Given the description of an element on the screen output the (x, y) to click on. 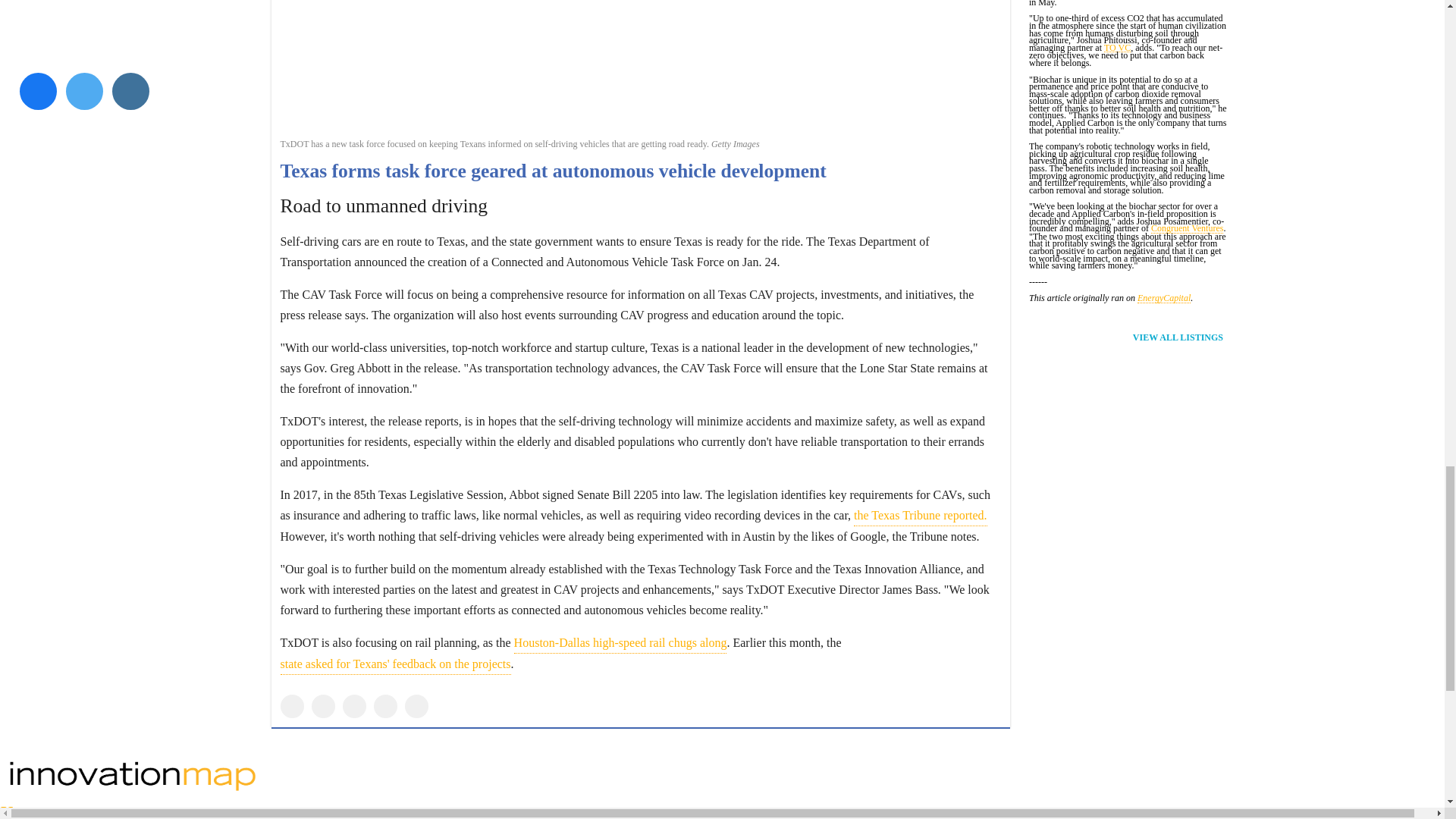
Houston-Dallas high-speed rail chugs along (619, 642)
SportsMap Houston (722, 776)
the Texas Tribune reported. (920, 515)
state asked for Texans' feedback on the projects (396, 663)
